Given the description of an element on the screen output the (x, y) to click on. 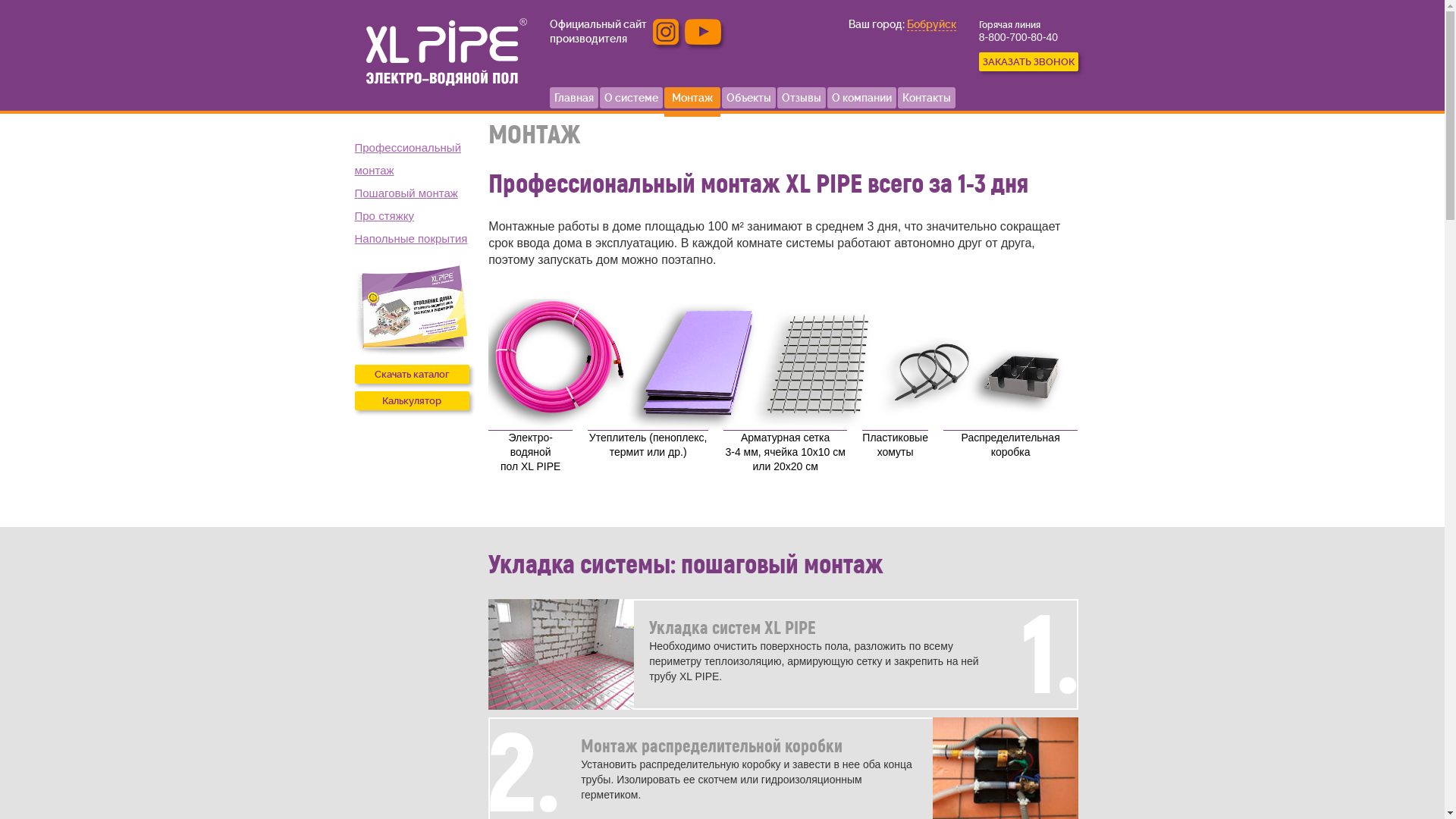
8-800-700-80-40 Element type: text (1018, 37)
